Given the description of an element on the screen output the (x, y) to click on. 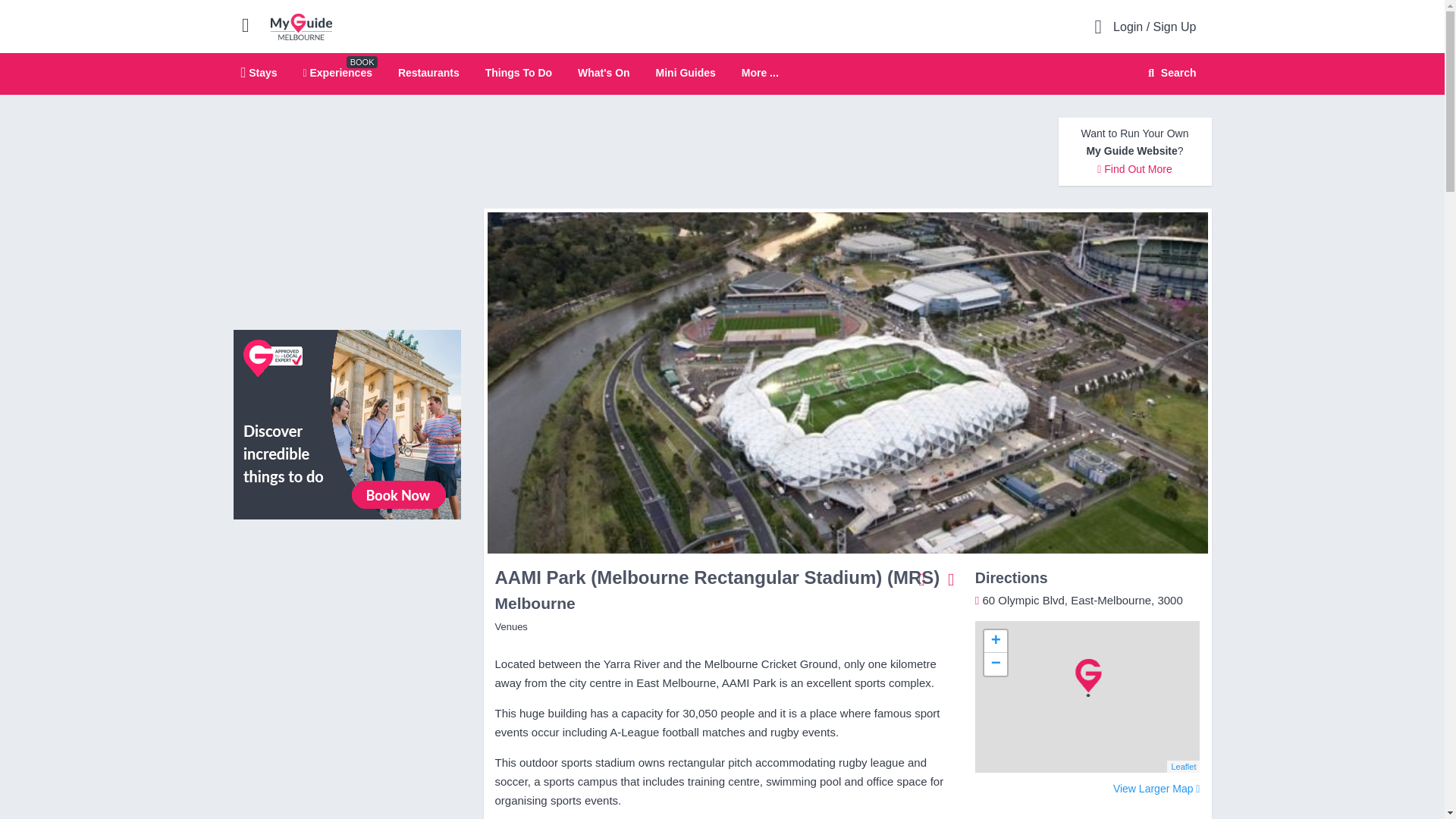
Mini Guides (686, 72)
What's On (604, 72)
Things To Do (517, 72)
Search (1169, 72)
Zoom in (995, 640)
View All Experiences (346, 423)
Restaurants (428, 72)
A JS library for interactive maps (1182, 766)
Experiences (337, 72)
GetYourGuide Widget (346, 599)
More ... (759, 72)
Zoom out (995, 663)
Stays (259, 72)
My Guide Melbourne (300, 25)
